Given the description of an element on the screen output the (x, y) to click on. 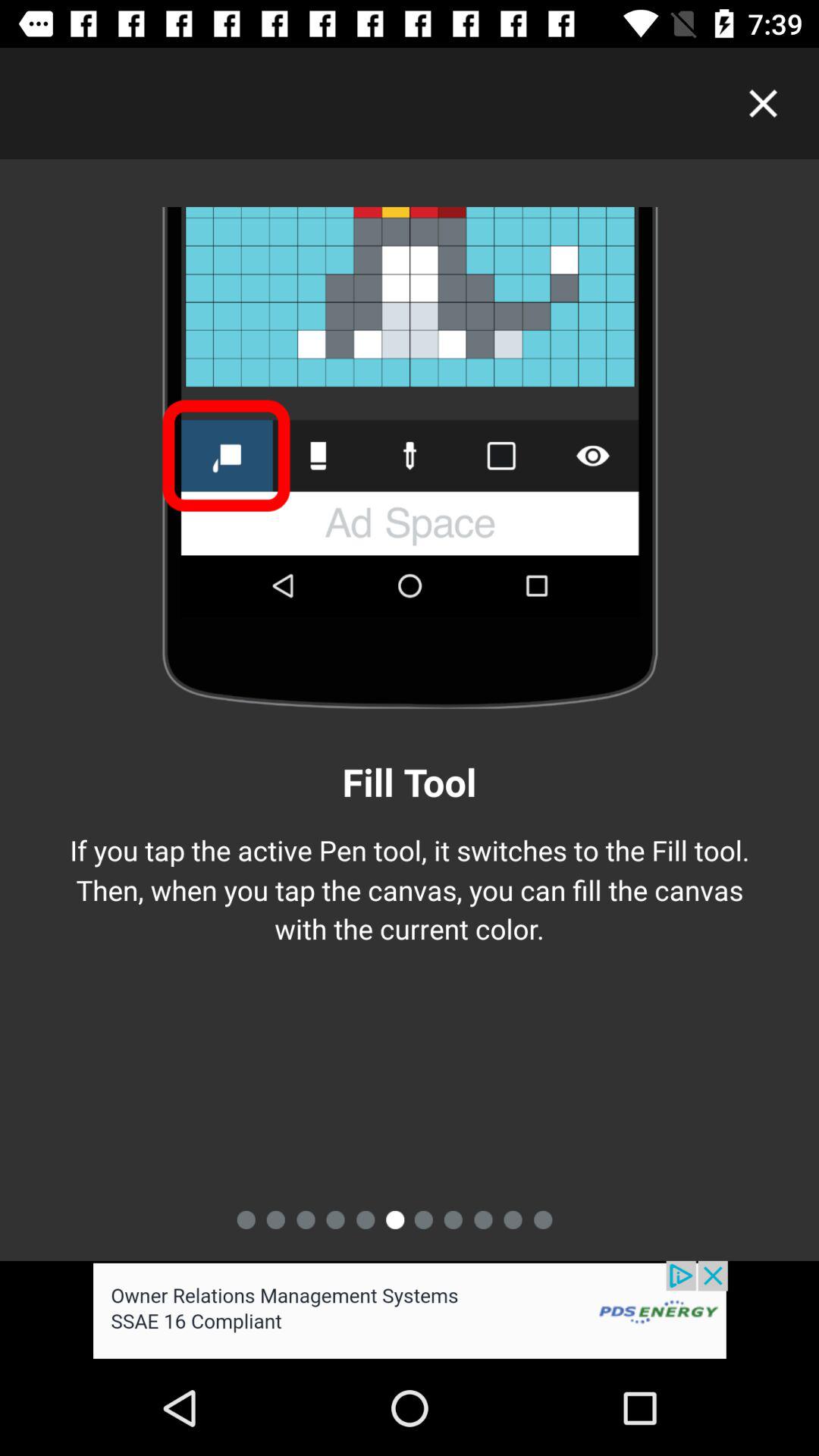
click to exit (763, 103)
